Given the description of an element on the screen output the (x, y) to click on. 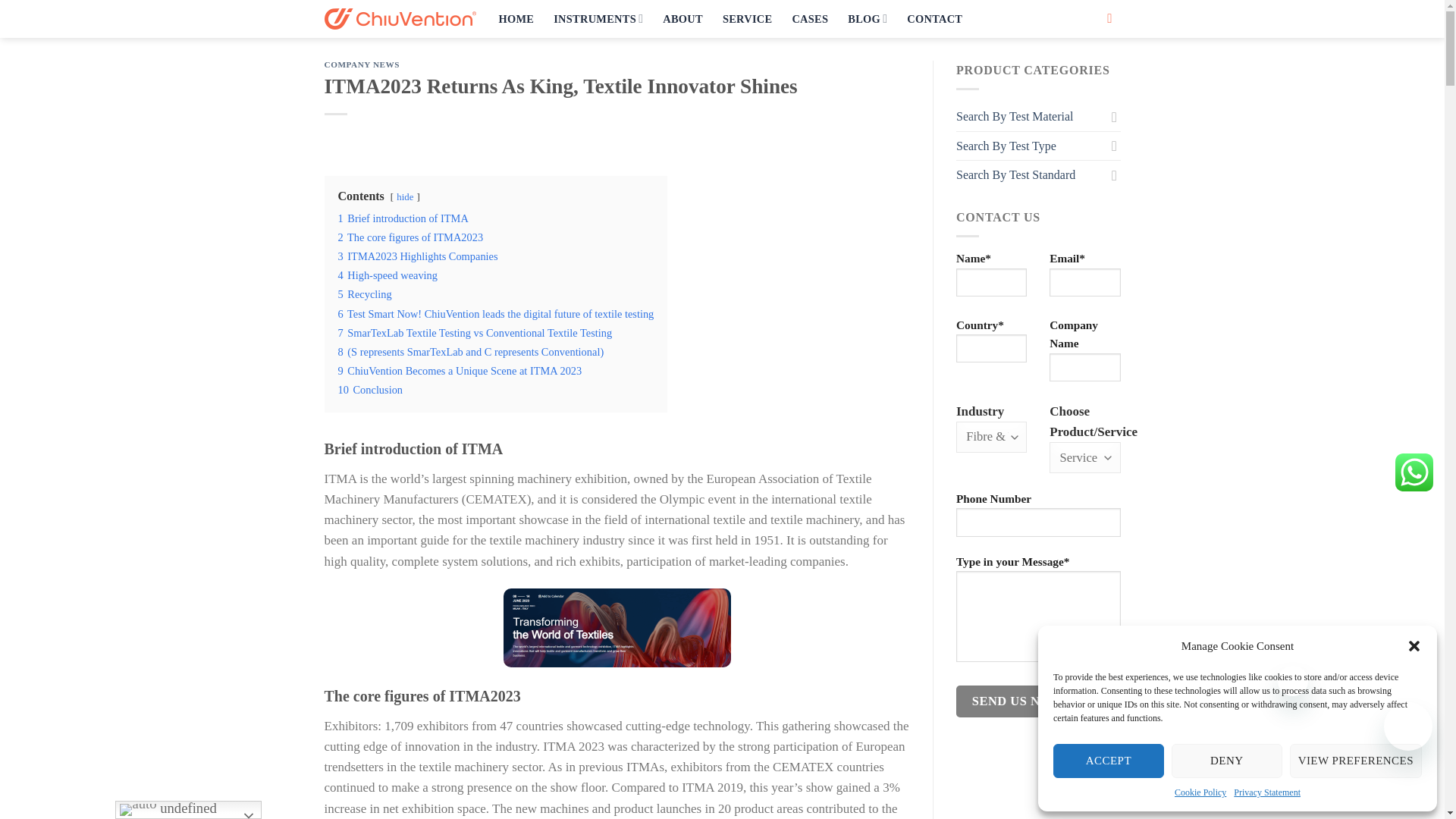
CONTACT (934, 18)
CASES (810, 18)
Cookie Policy (1199, 792)
SERVICE (747, 18)
ACCEPT (1107, 760)
undefined (188, 809)
DENY (1227, 760)
HOME (516, 18)
ABOUT (682, 18)
Send Us Now (1017, 701)
BLOG (866, 18)
INSTRUMENTS (598, 18)
Privacy Statement (1266, 792)
VIEW PREFERENCES (1356, 760)
